Given the description of an element on the screen output the (x, y) to click on. 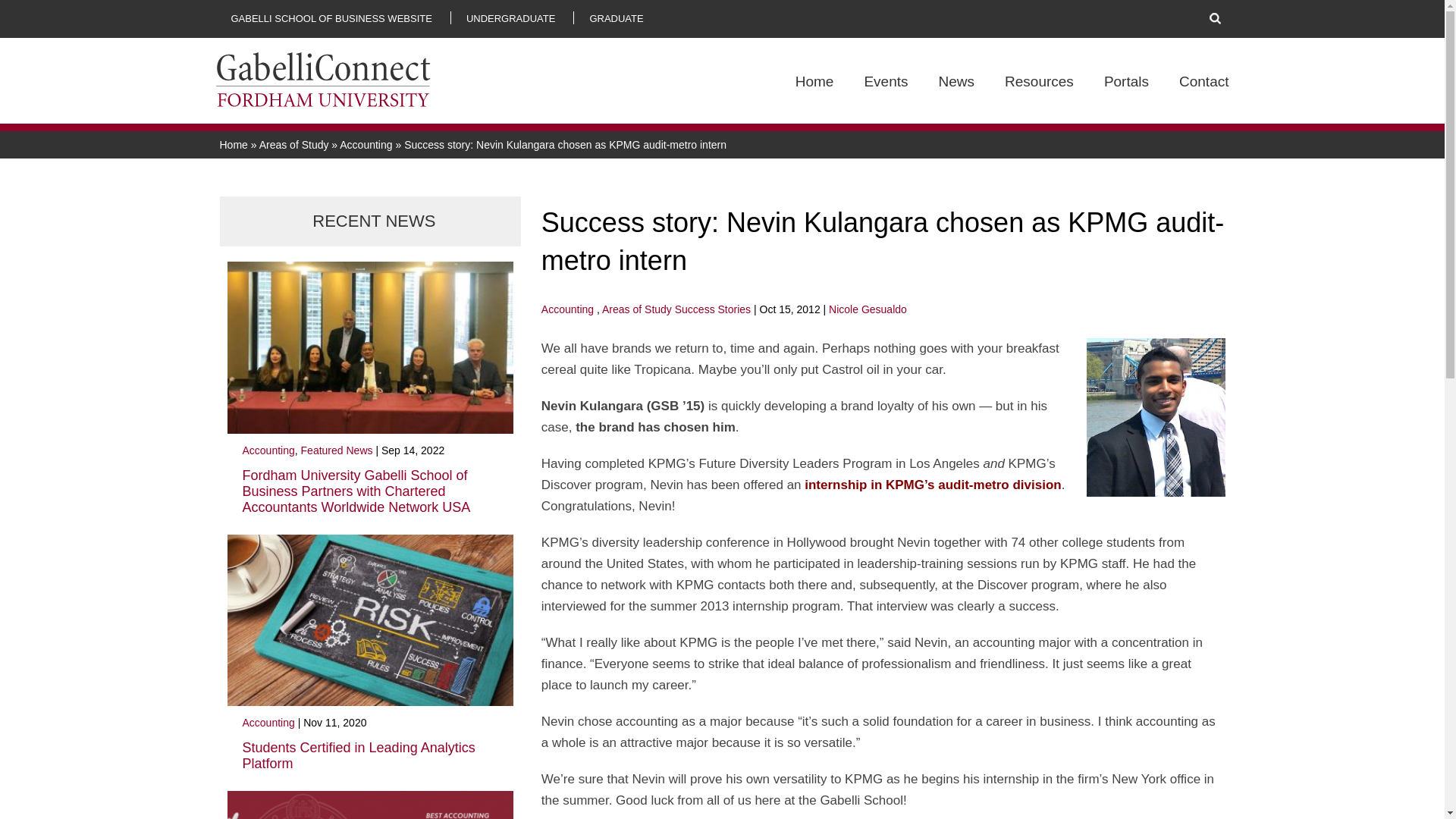
Areas of Study (636, 309)
GRADUATE (615, 18)
Accounting (567, 309)
UNDERGRADUATE (510, 18)
Resources (1039, 97)
GABELLI SCHOOL OF BUSINESS WEBSITE (330, 18)
Posts by Nicole Gesualdo (867, 309)
Success Stories (713, 309)
Students Certified in Leading Analytics Platform (359, 755)
